Given the description of an element on the screen output the (x, y) to click on. 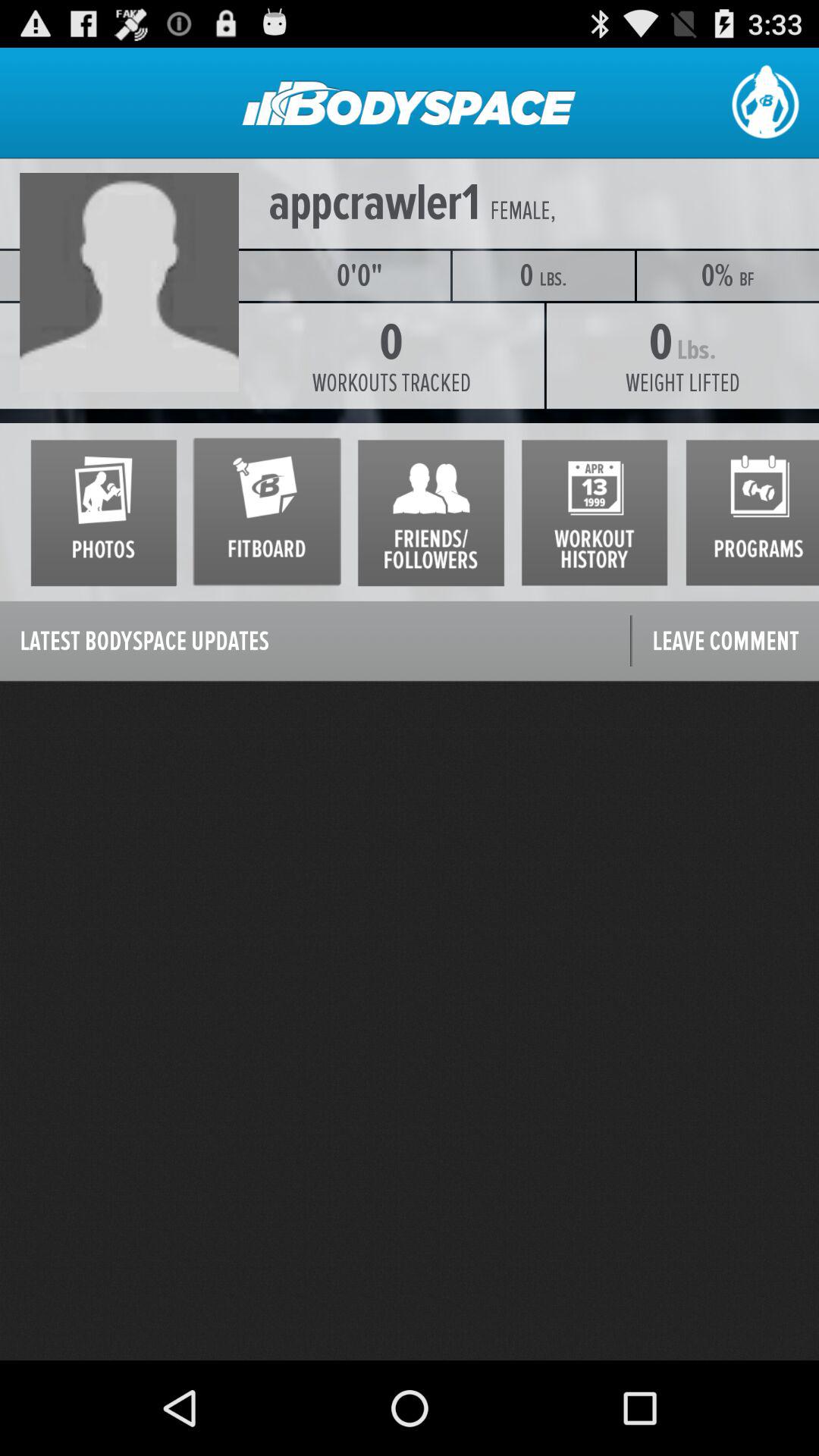
press the bf (746, 279)
